Given the description of an element on the screen output the (x, y) to click on. 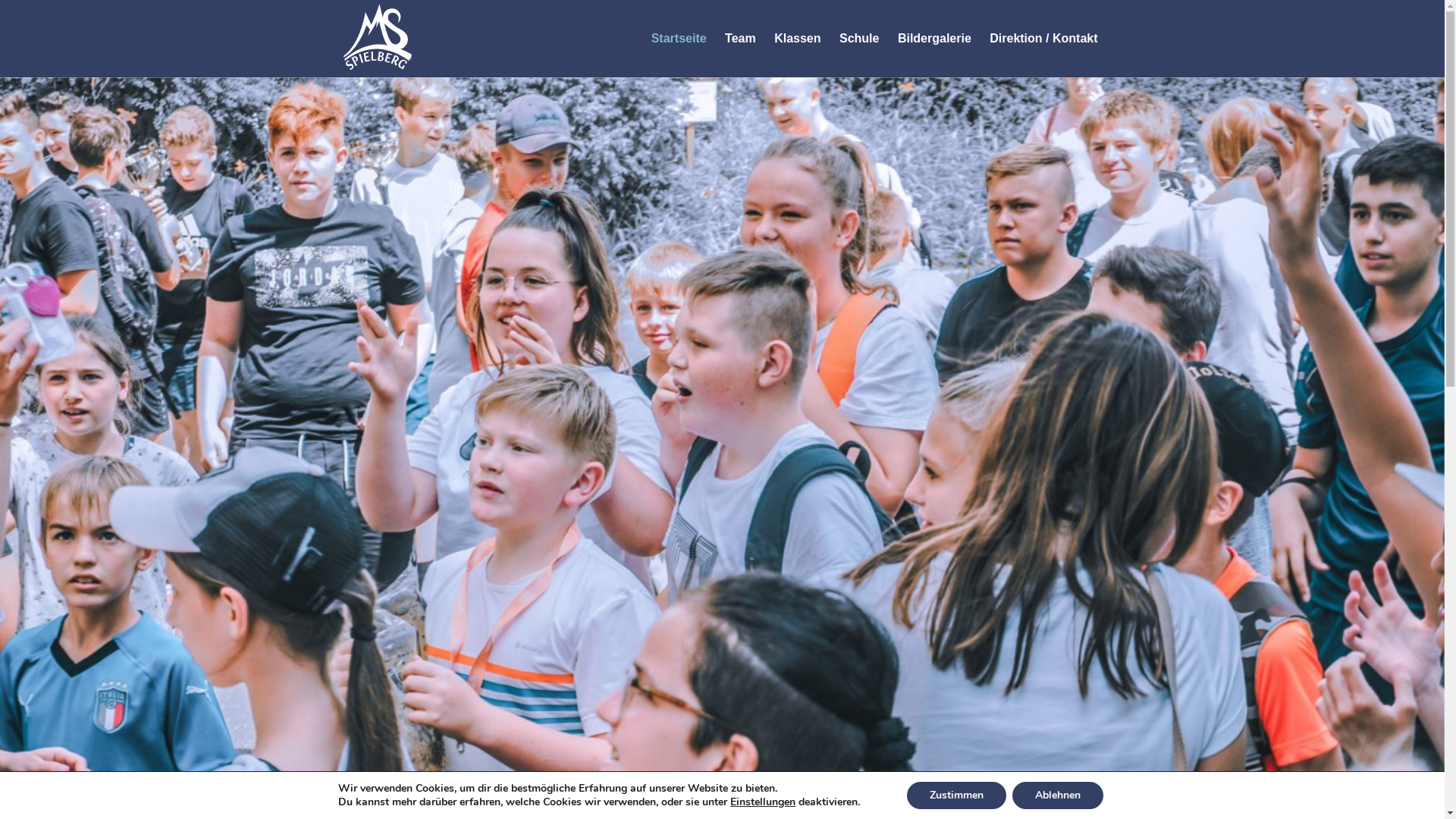
Ablehnen Element type: text (1057, 795)
Bildergalerie Element type: text (934, 38)
Zustimmen Element type: text (956, 795)
Direktion / Kontakt Element type: text (1043, 38)
Klassen Element type: text (797, 38)
Einstellungen Element type: text (762, 802)
Team Element type: text (740, 38)
Schule Element type: text (858, 38)
Startseite Element type: text (678, 38)
